Given the description of an element on the screen output the (x, y) to click on. 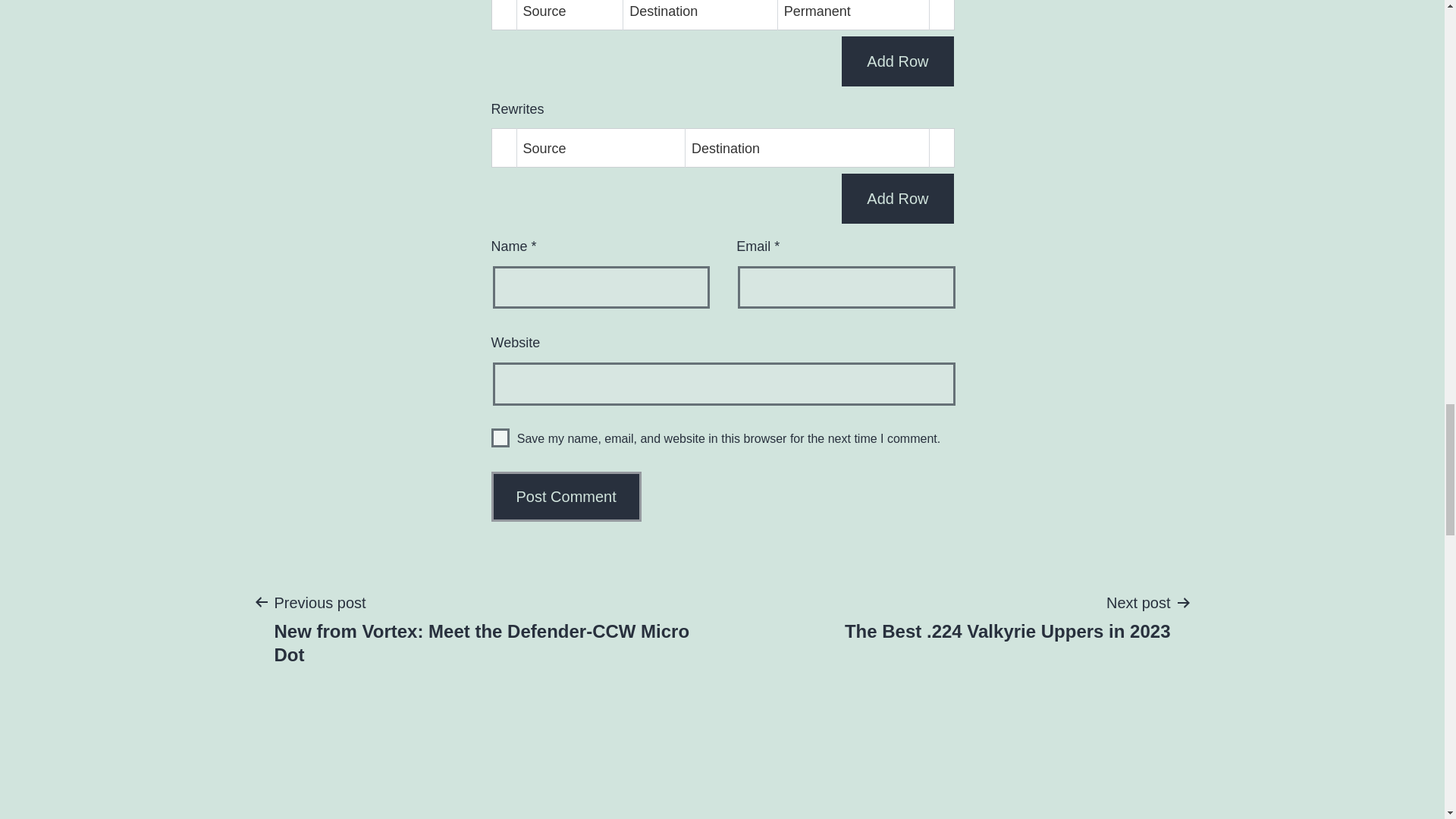
Post Comment (567, 496)
Post Comment (567, 496)
Add Row (1007, 615)
yes (897, 198)
Add Row (500, 437)
